Given the description of an element on the screen output the (x, y) to click on. 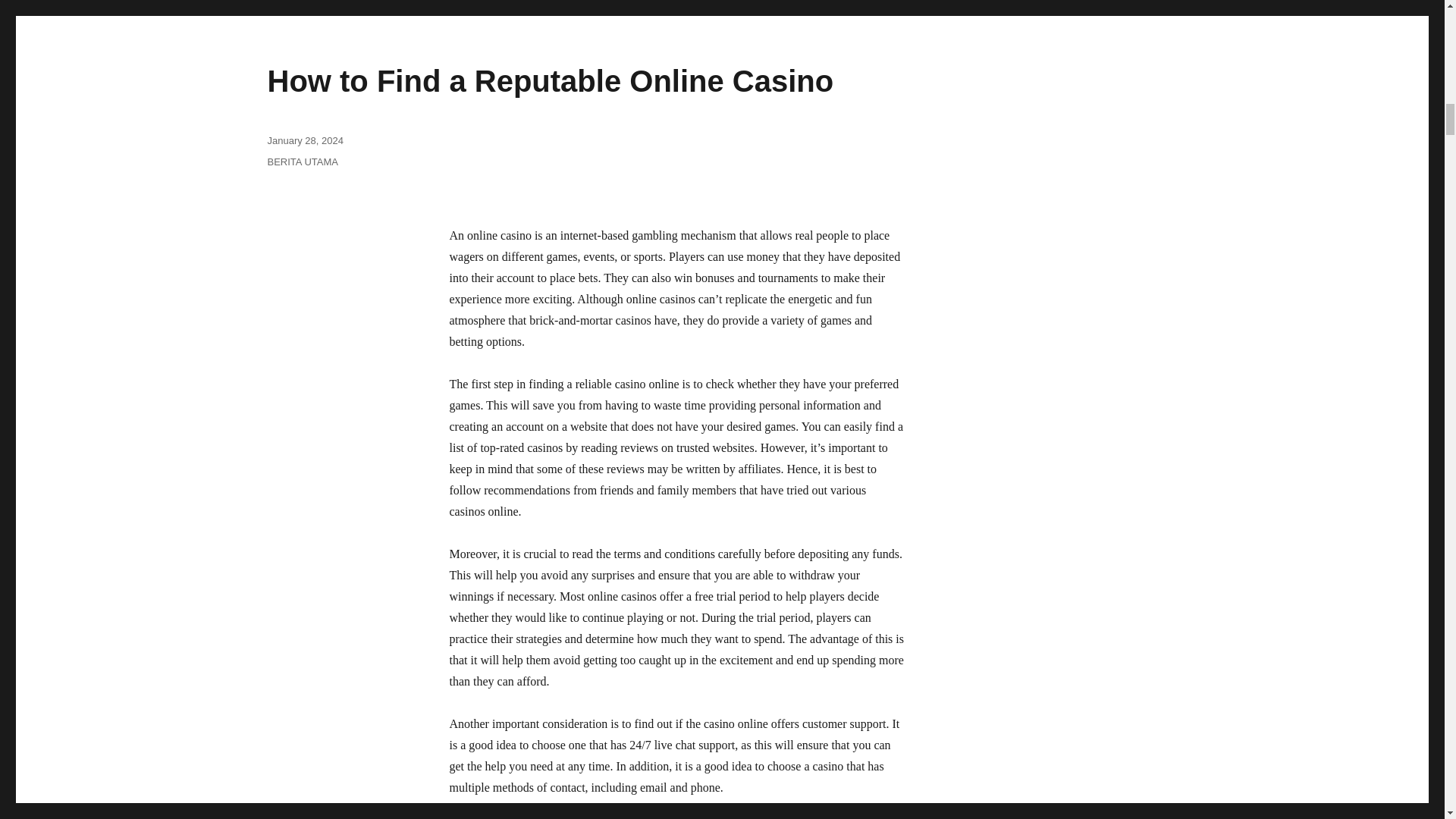
January 28, 2024 (304, 140)
BERITA UTAMA (301, 161)
How to Find a Reputable Online Casino (549, 80)
